Given the description of an element on the screen output the (x, y) to click on. 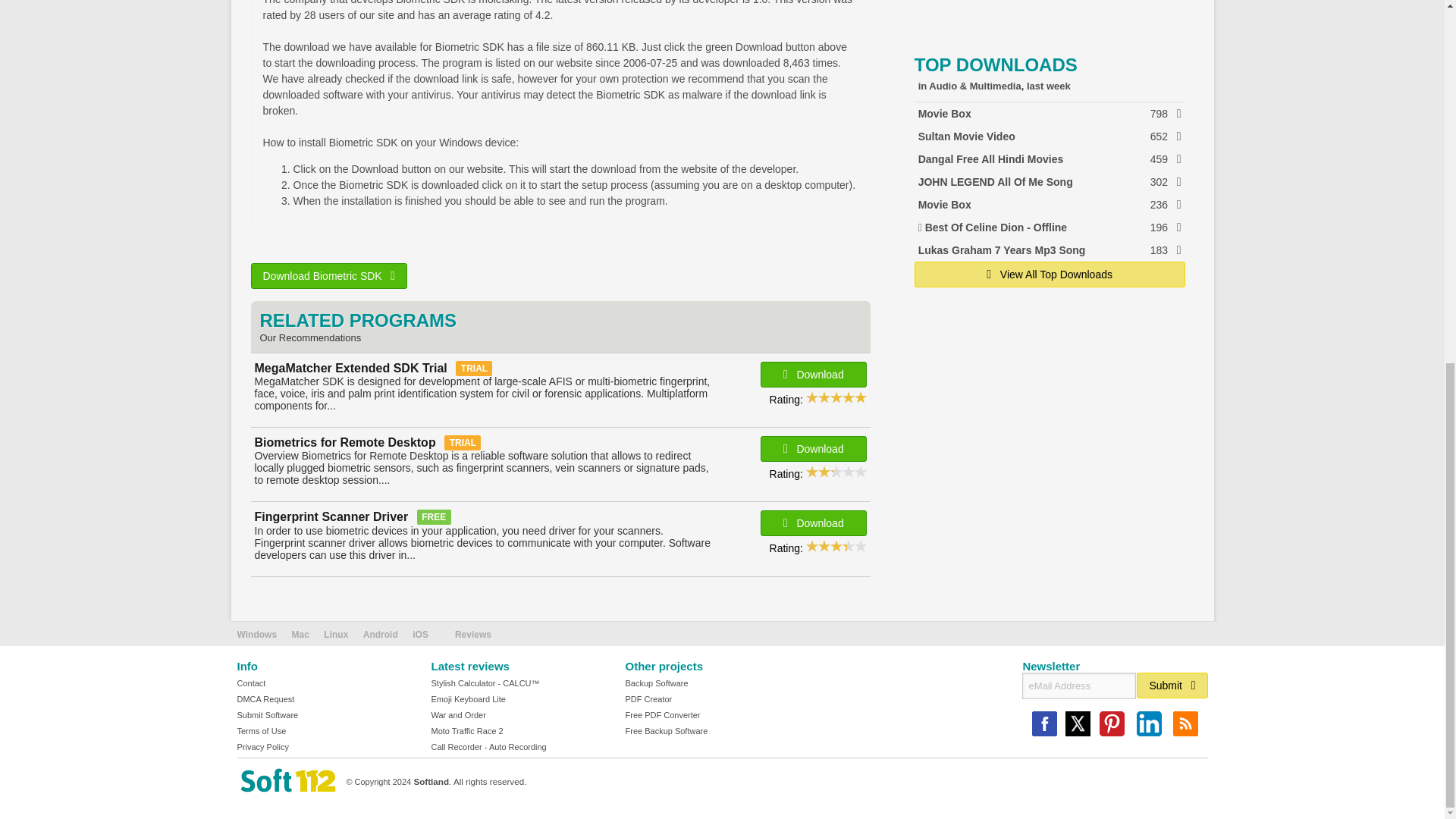
  Download (813, 448)
Download Biometric SDK   (328, 275)
  Download (1049, 136)
